Given the description of an element on the screen output the (x, y) to click on. 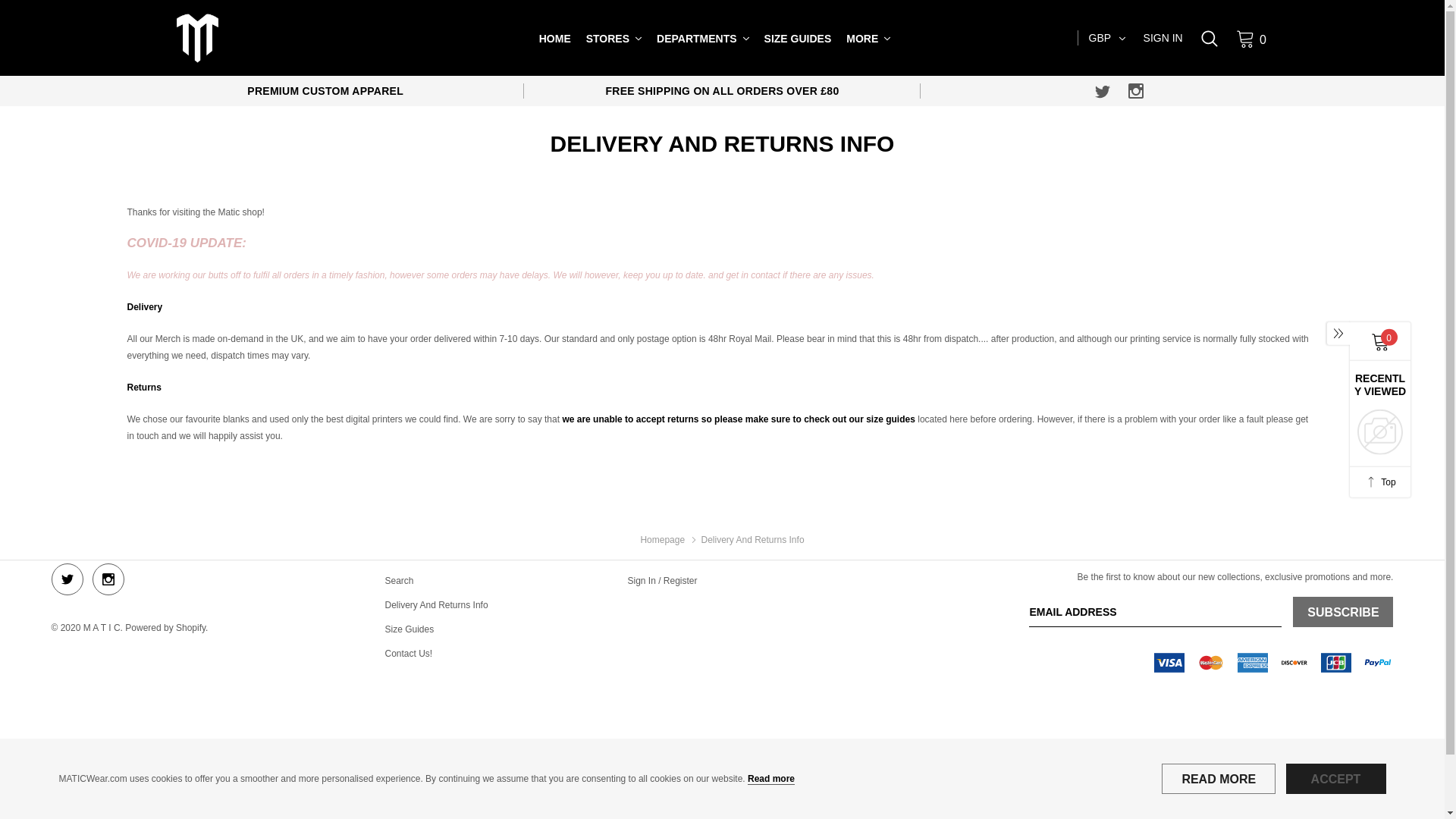
Currency (1107, 37)
SIGN IN (1162, 37)
HOME (554, 38)
SIZE GUIDES (797, 38)
DEPARTMENTS (696, 38)
Instagram (1135, 90)
STORES (607, 38)
MORE (861, 38)
GBP (1107, 37)
